Given the description of an element on the screen output the (x, y) to click on. 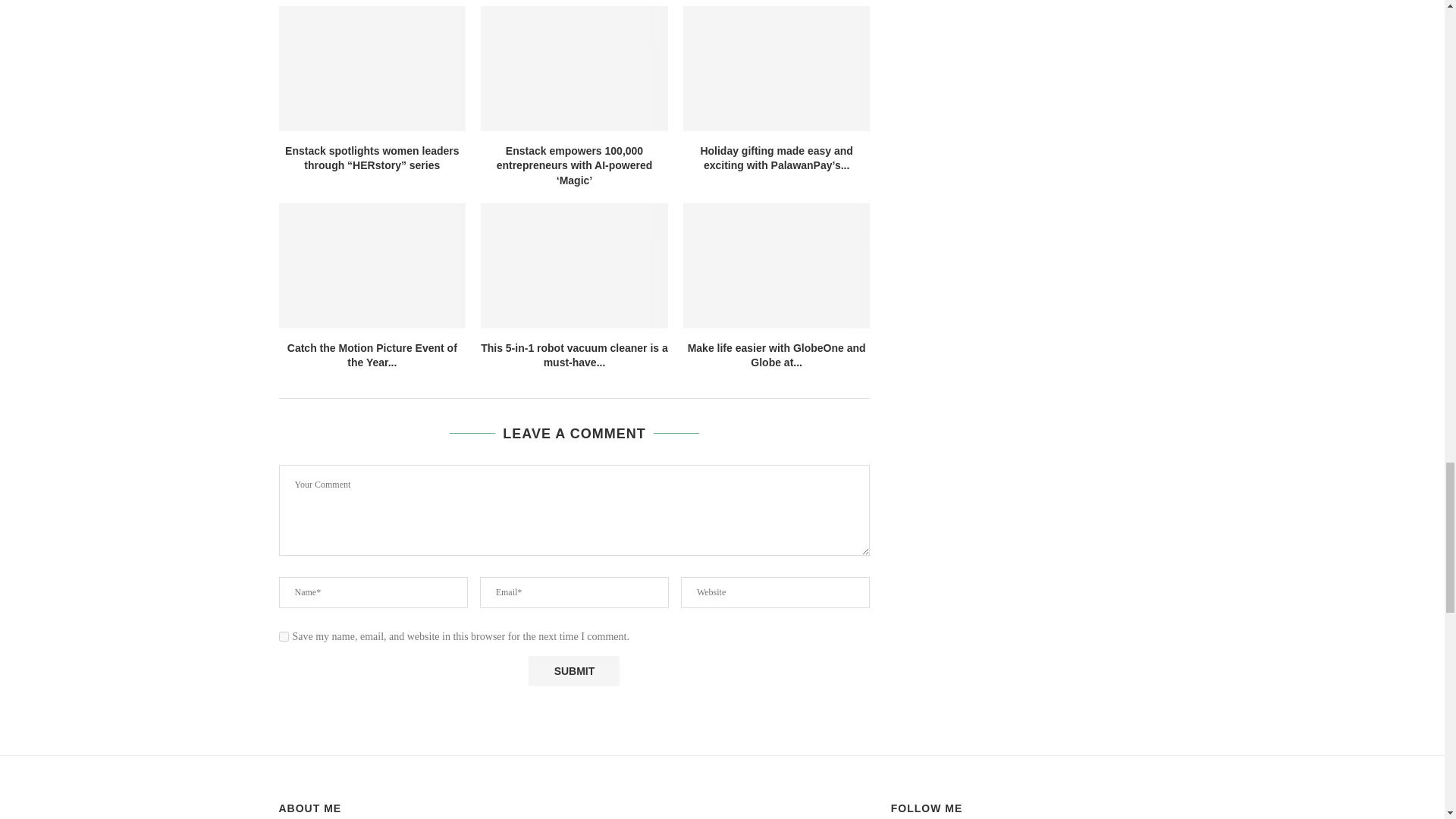
Make life easier with GlobeOne and Globe at Home apps (776, 265)
yes (283, 636)
Submit (574, 670)
